Given the description of an element on the screen output the (x, y) to click on. 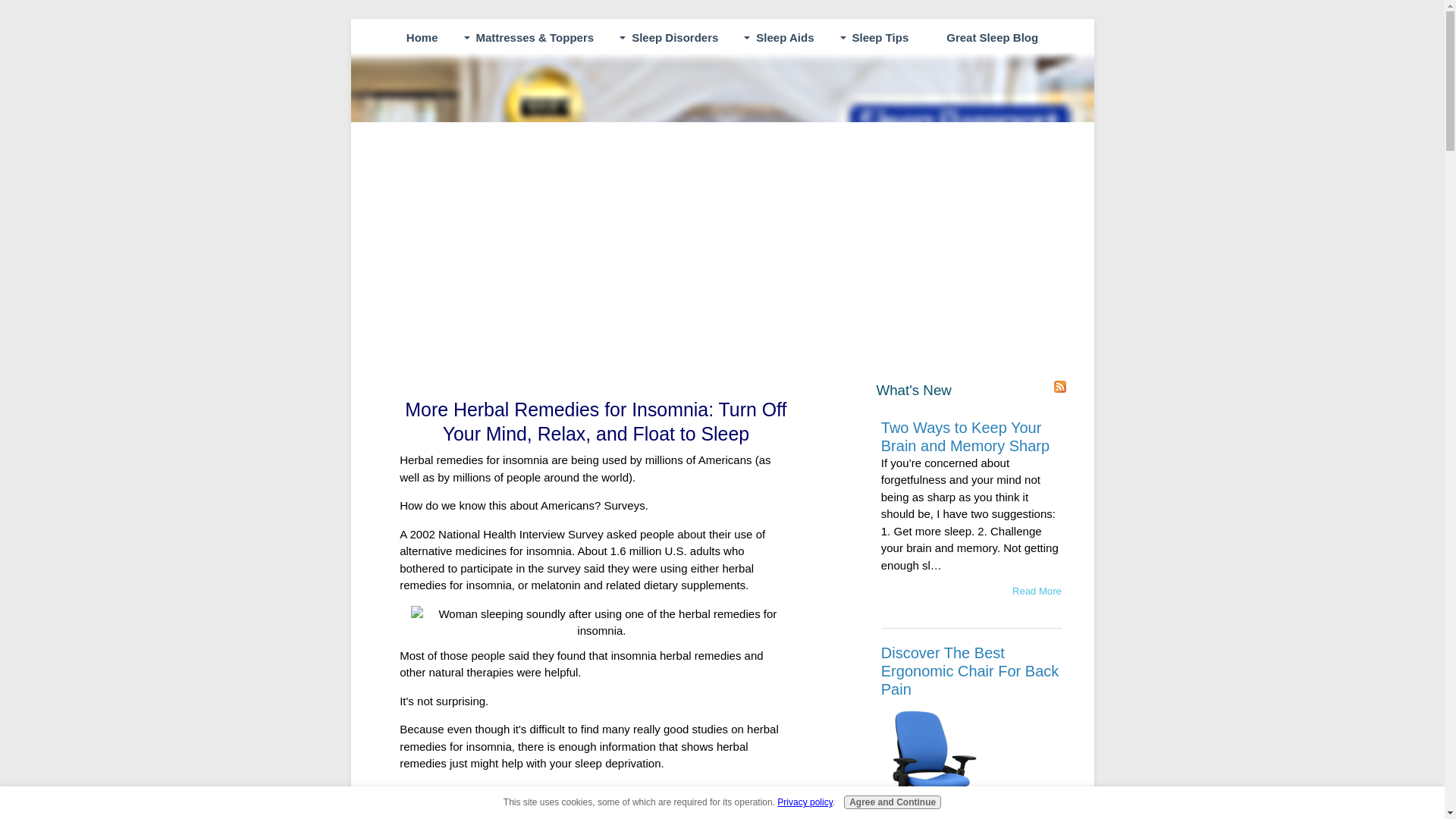
Home (422, 37)
